Given the description of an element on the screen output the (x, y) to click on. 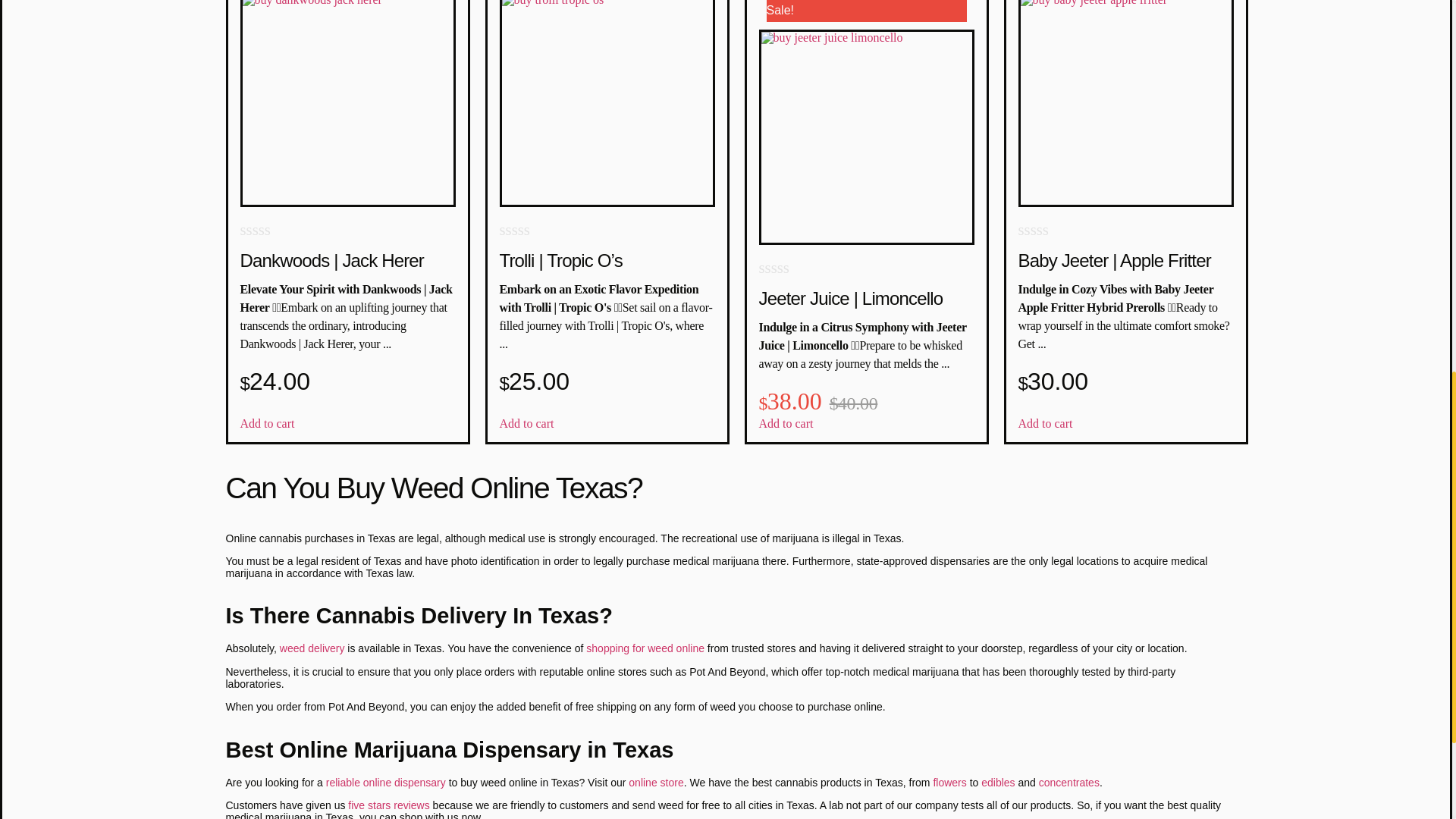
Add to cart (1044, 422)
weed delivery (312, 648)
shopping for weed online (645, 648)
reliable online dispensary (385, 782)
online store (655, 782)
Add to cart (526, 422)
Add to cart (785, 422)
Add to cart (267, 422)
flowers (949, 782)
